Given the description of an element on the screen output the (x, y) to click on. 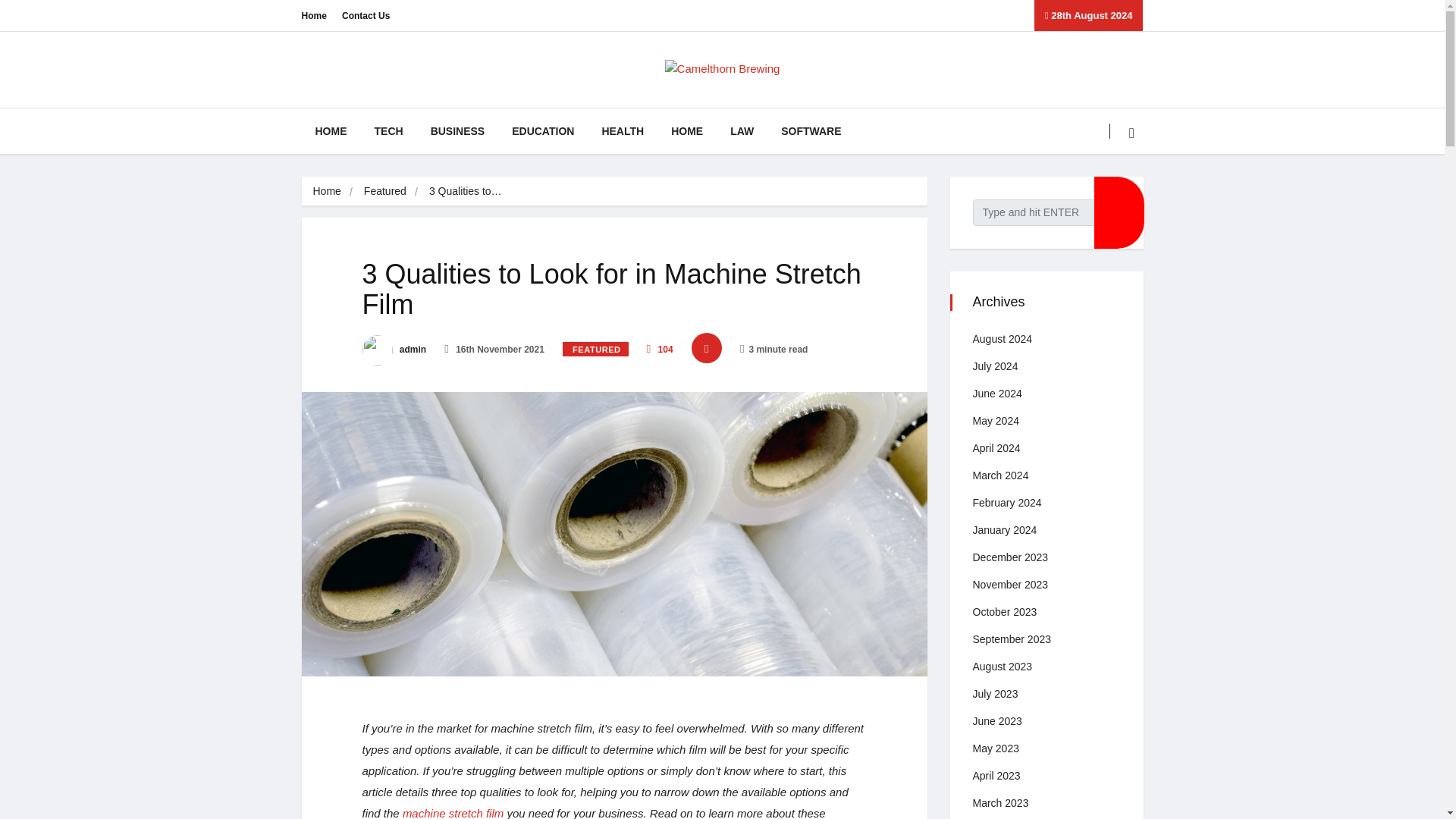
LAW (741, 130)
April 2024 (996, 448)
July 2024 (994, 366)
Home (326, 191)
Contact Us (366, 15)
machine stretch film (453, 812)
October 2023 (1004, 612)
November 2023 (1010, 584)
June 2024 (997, 393)
May 2024 (994, 420)
